Given the description of an element on the screen output the (x, y) to click on. 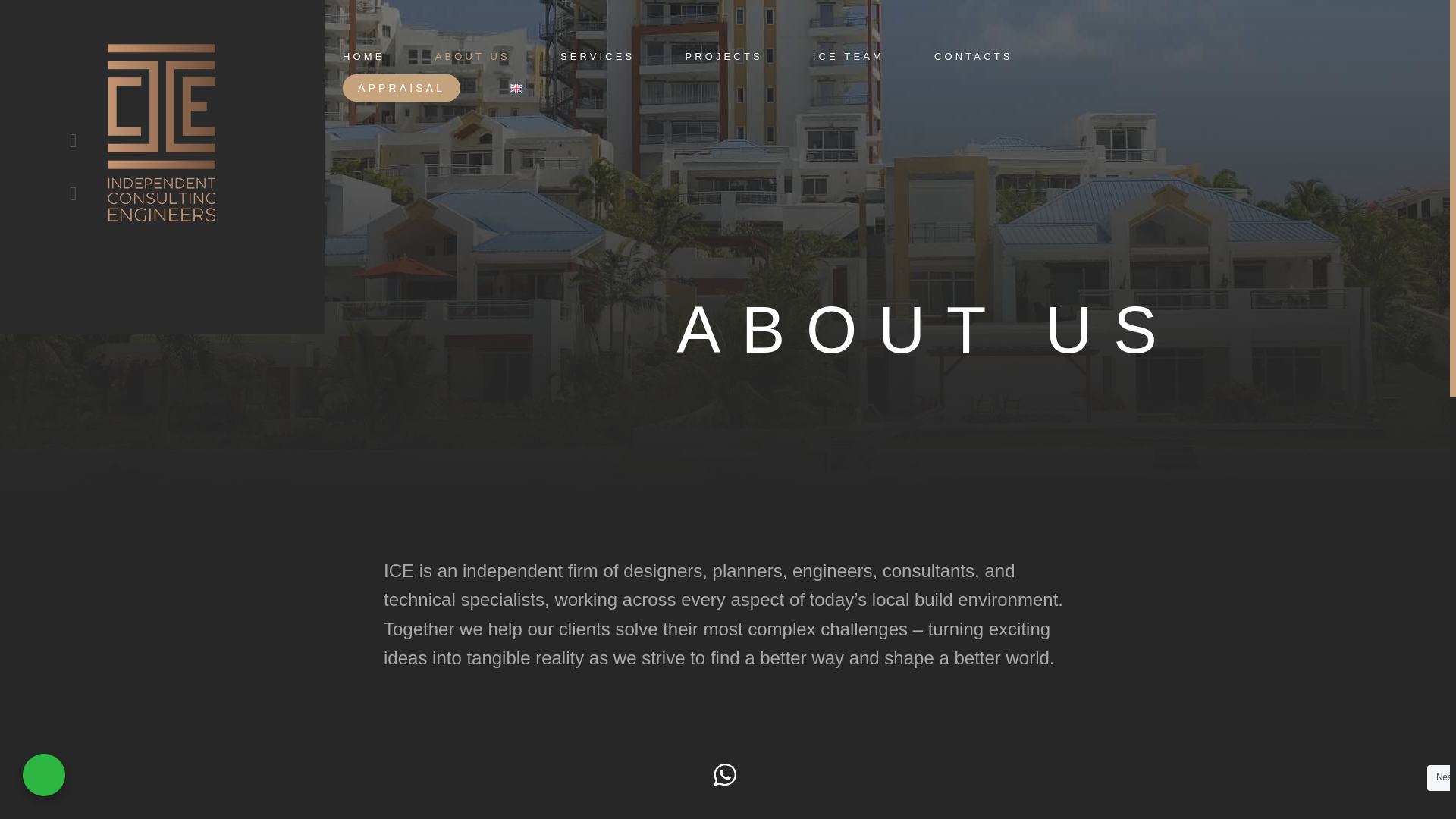
APPRAISAL (401, 88)
PROJECTS (722, 56)
ABOUT US (473, 56)
ICE TEAM (847, 56)
CONTACTS (972, 56)
SERVICES (597, 56)
HOME (363, 56)
